Given the description of an element on the screen output the (x, y) to click on. 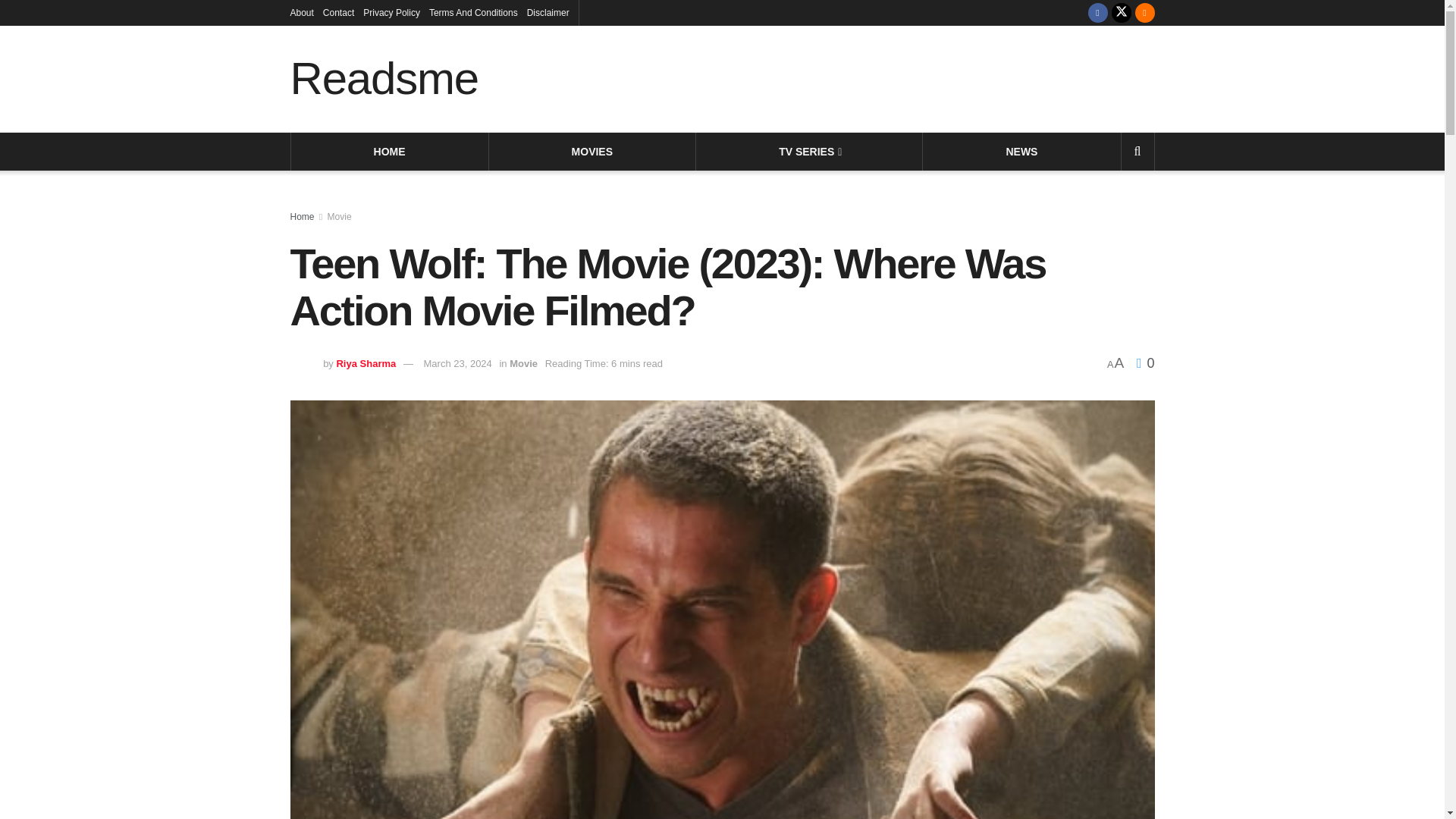
Contact (338, 12)
Disclaimer (548, 12)
Riya Sharma (366, 363)
Terms And Conditions (473, 12)
Readsme (383, 78)
NEWS (1021, 151)
Home (301, 216)
About (301, 12)
HOME (390, 151)
MOVIES (592, 151)
